Given the description of an element on the screen output the (x, y) to click on. 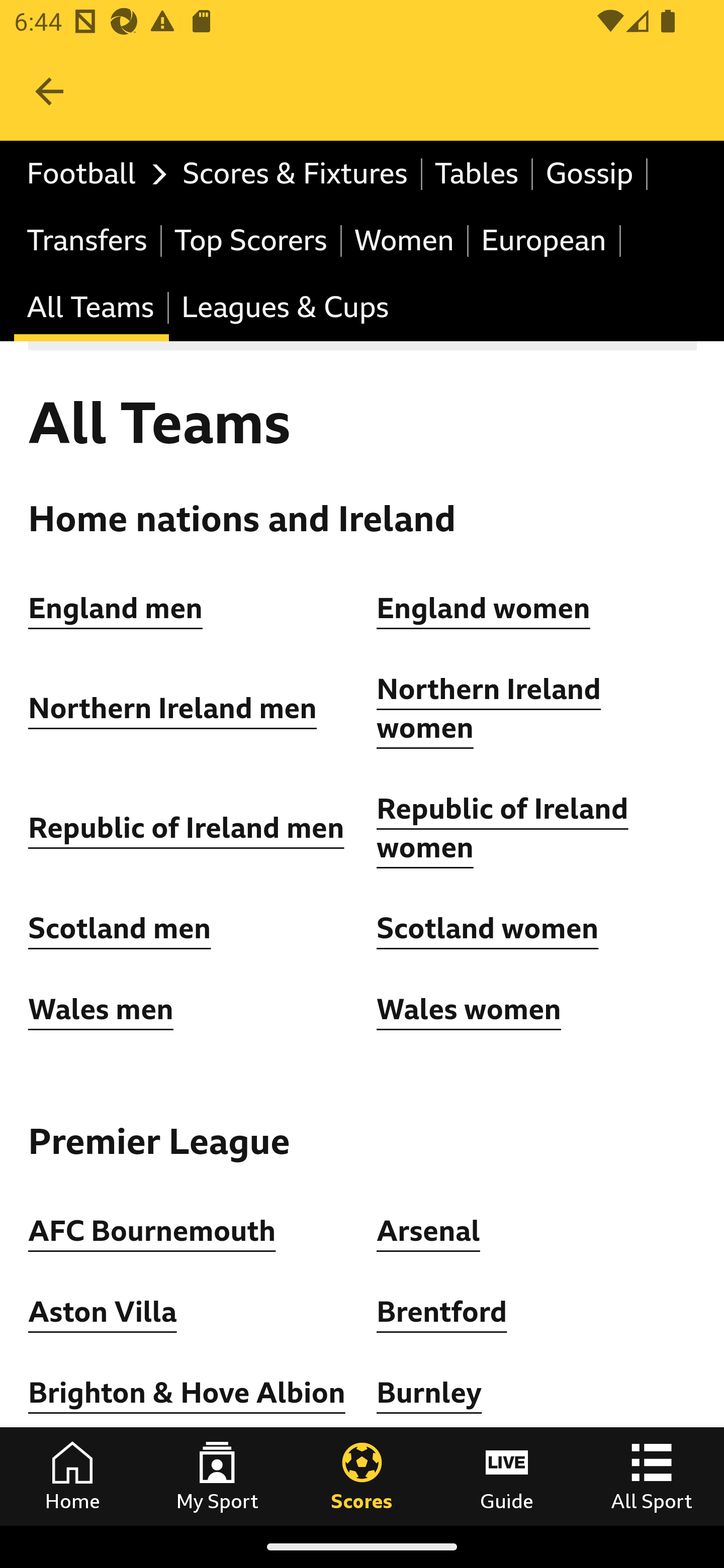
Navigate up (49, 91)
Football (91, 173)
Scores & Fixtures (295, 173)
Tables (477, 173)
Gossip (590, 173)
Transfers (88, 240)
Top Scorers (251, 240)
Women (405, 240)
European (544, 240)
All Teams (91, 308)
Leagues & Cups (284, 308)
England men (116, 608)
England women (483, 608)
Northern Ireland women (488, 709)
Northern Ireland men (173, 708)
Republic of Ireland women (502, 828)
Republic of Ireland men (186, 827)
Scotland men (120, 929)
Scotland women (487, 929)
Wales men (100, 1009)
Wales women (468, 1009)
AFC Bournemouth (151, 1230)
Arsenal (428, 1230)
Aston Villa (102, 1312)
Brentford (442, 1312)
Brighton & Hove Albion (187, 1393)
Burnley (429, 1393)
Home (72, 1475)
My Sport (216, 1475)
Guide (506, 1475)
All Sport (651, 1475)
